Given the description of an element on the screen output the (x, y) to click on. 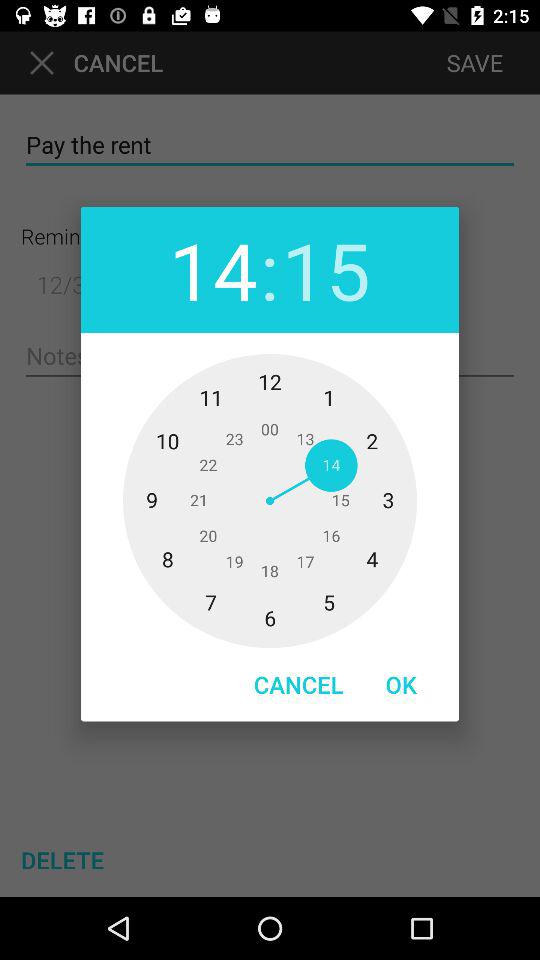
open item at the bottom right corner (401, 684)
